Given the description of an element on the screen output the (x, y) to click on. 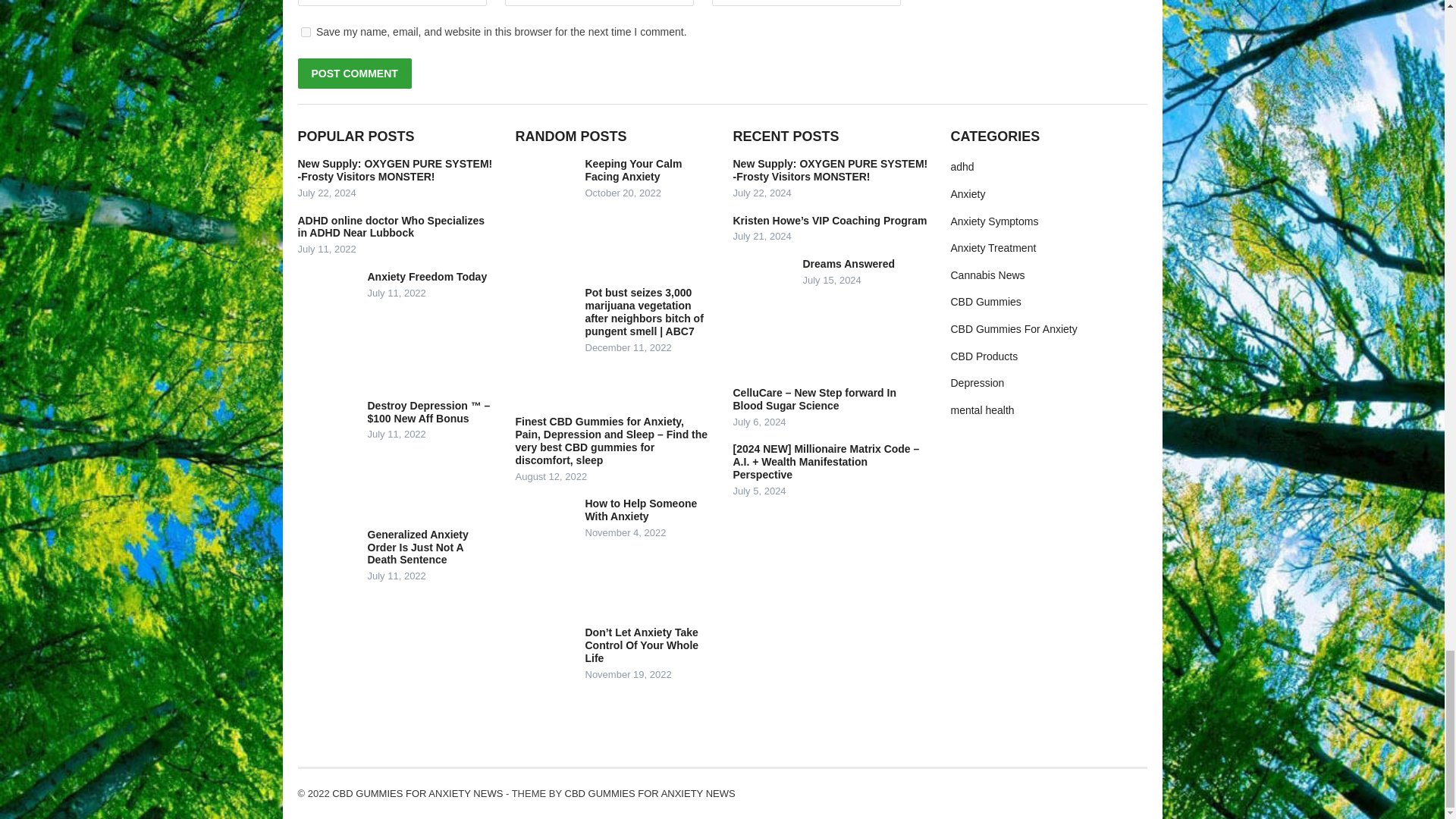
Post Comment (353, 73)
yes (304, 31)
